Given the description of an element on the screen output the (x, y) to click on. 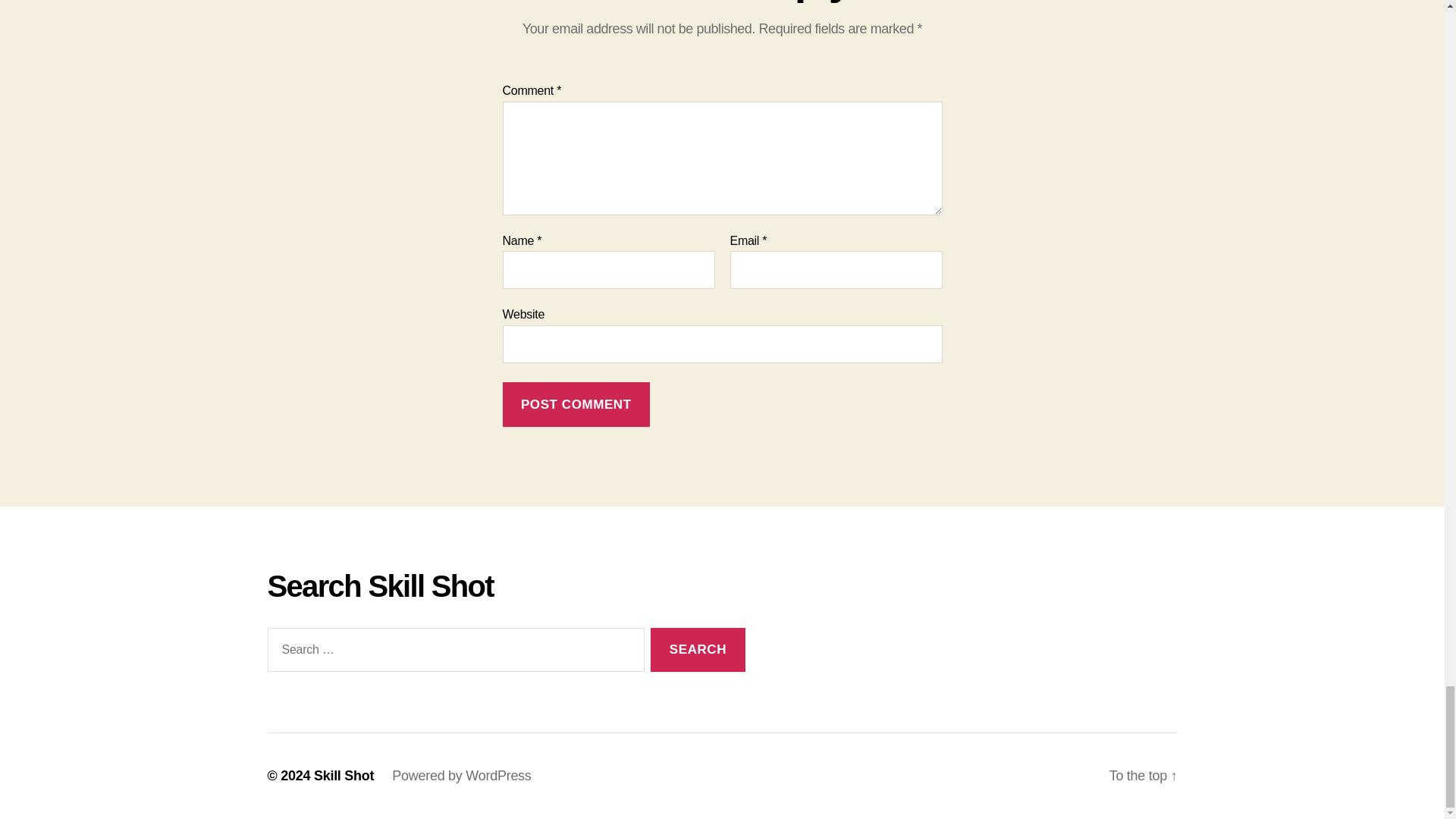
Search (697, 650)
Search (697, 650)
Post Comment (575, 404)
